Given the description of an element on the screen output the (x, y) to click on. 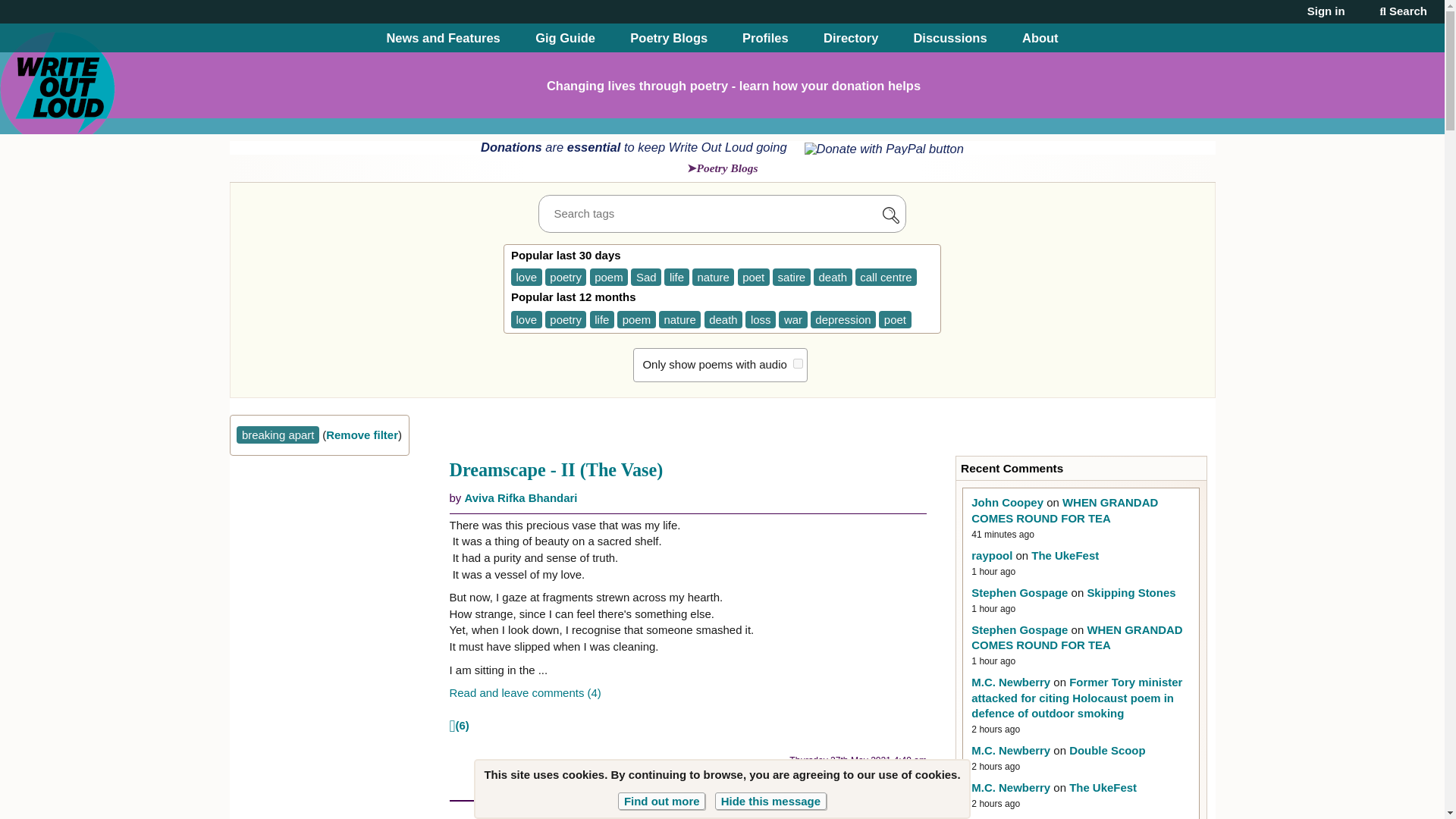
loss (760, 319)
nature (714, 276)
nature (680, 319)
death (723, 319)
Discussions (949, 38)
poet (895, 319)
poet (754, 276)
war (792, 319)
life (601, 319)
Gig Guide (565, 38)
